Given the description of an element on the screen output the (x, y) to click on. 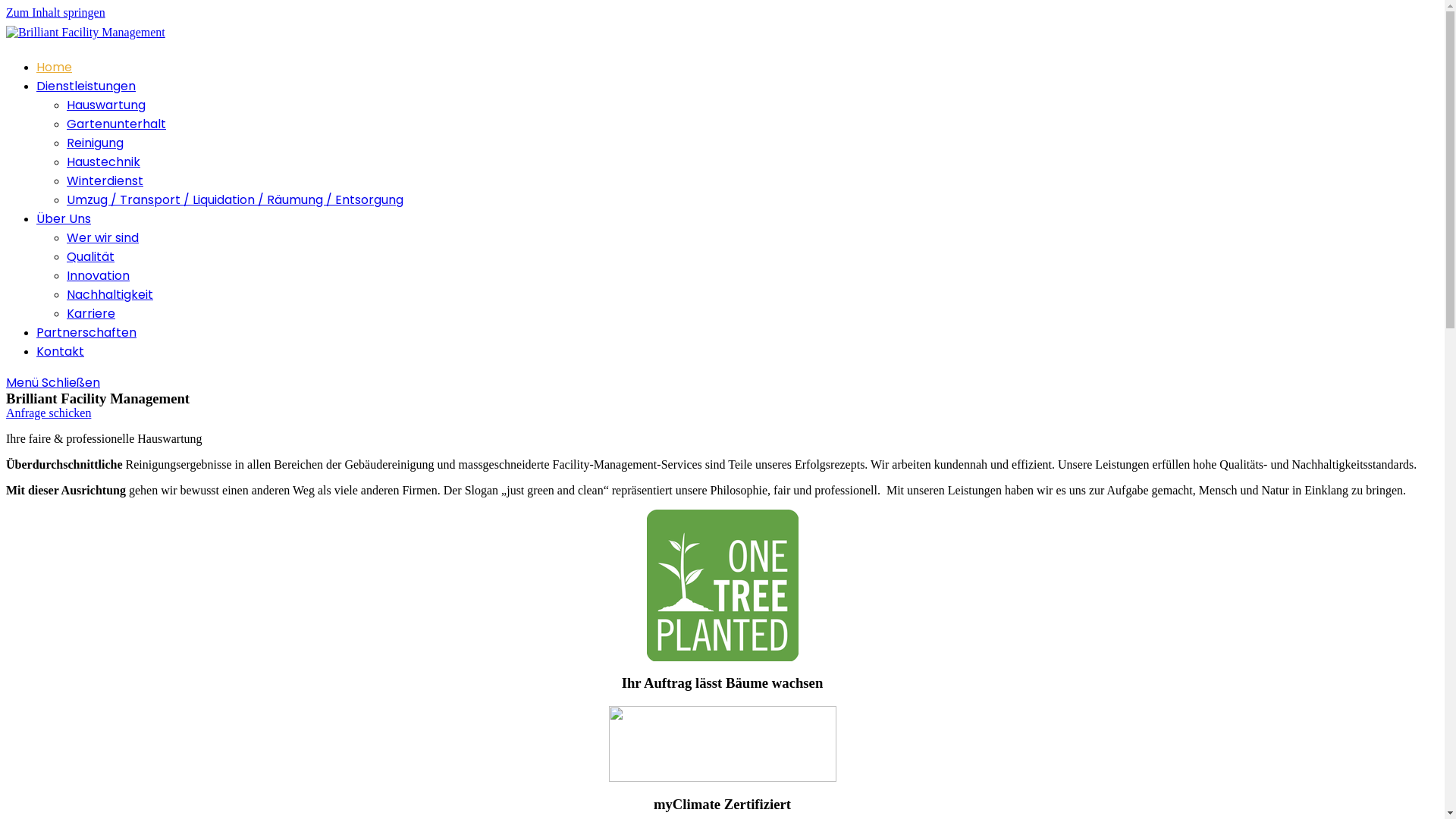
Reinigung Element type: text (94, 142)
Innovation Element type: text (97, 275)
Zum Inhalt springen Element type: text (55, 12)
Karriere Element type: text (90, 313)
Home Element type: text (54, 66)
Anfrage schicken Element type: text (48, 412)
Winterdienst Element type: text (104, 180)
Hauswartung Element type: text (105, 104)
Gartenunterhalt Element type: text (116, 123)
Wer wir sind Element type: text (102, 237)
Nachhaltigkeit Element type: text (109, 294)
Dienstleistungen Element type: text (85, 85)
Haustechnik Element type: text (103, 161)
Kontakt Element type: text (60, 351)
Partnerschaften Element type: text (86, 332)
